Given the description of an element on the screen output the (x, y) to click on. 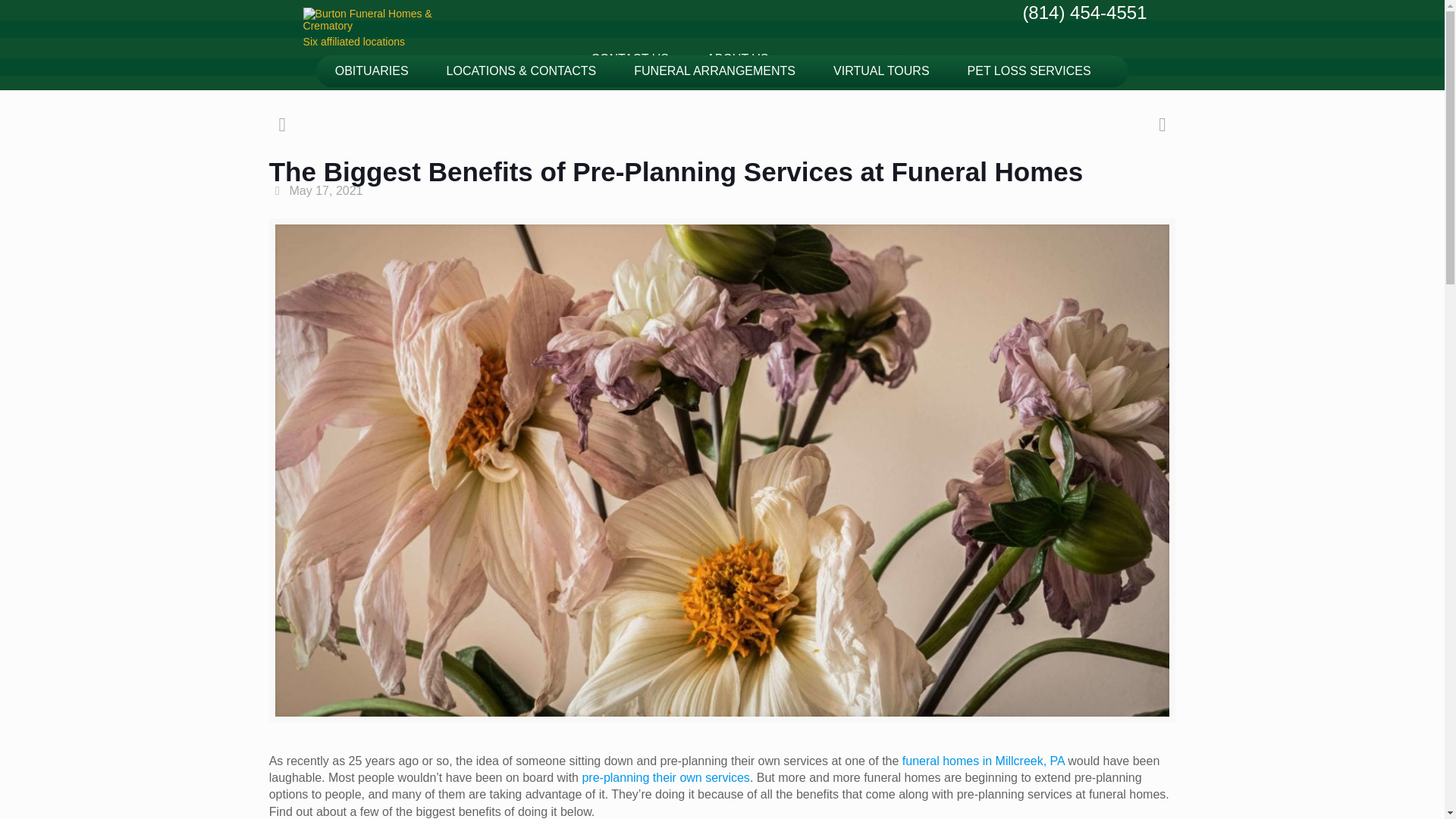
ABOUT US (737, 58)
OBITUARIES (371, 70)
About Us (737, 58)
CONTACT US (629, 58)
PET LOSS SERVICES (1029, 70)
funeral homes in Millcreek, PA (983, 760)
Six affiliated locations (418, 23)
pre-planning their own services (664, 777)
Contact Us (629, 58)
VIRTUAL TOURS (881, 70)
